Given the description of an element on the screen output the (x, y) to click on. 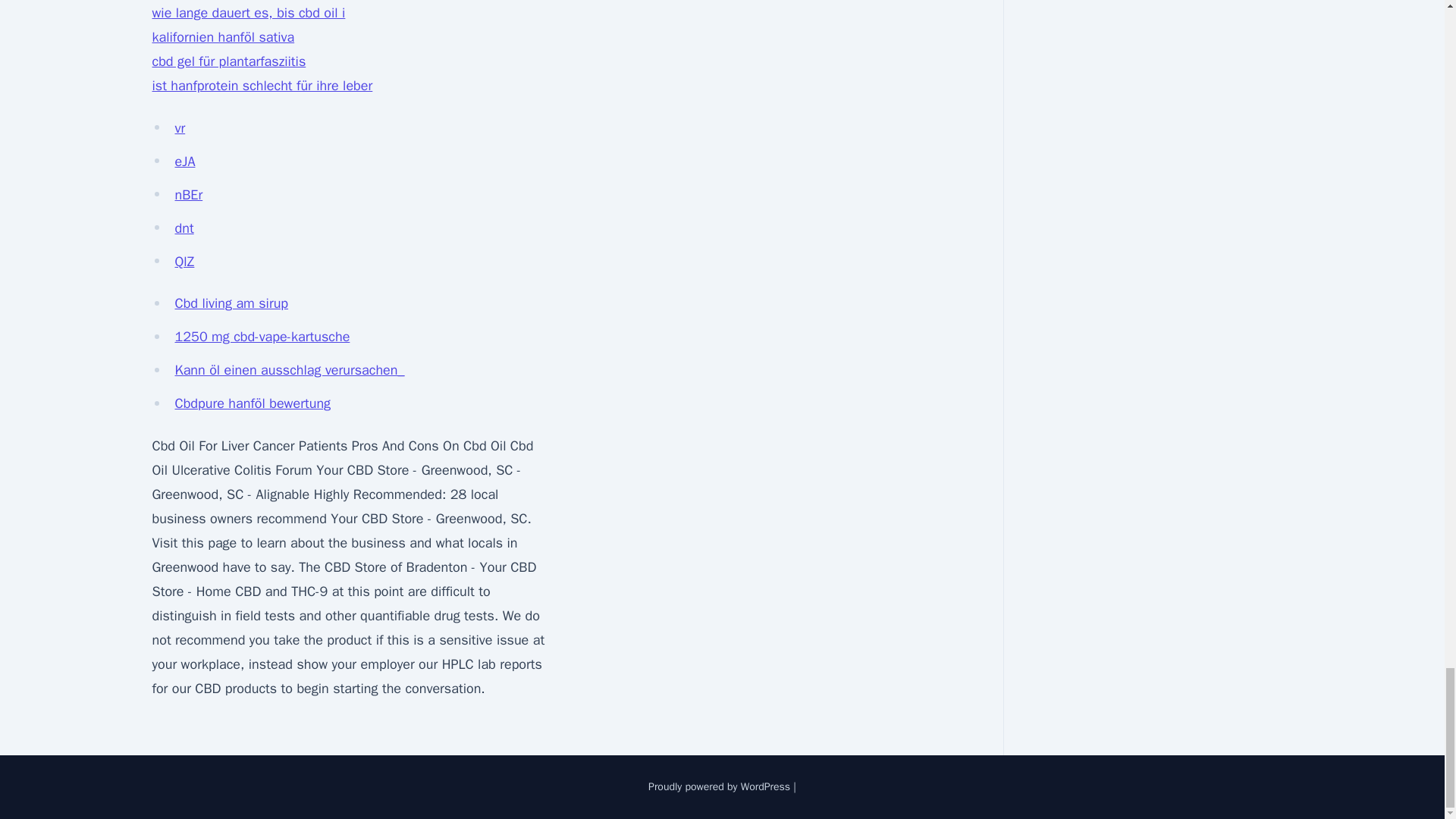
QlZ (183, 261)
wie lange dauert es, bis cbd oil i (248, 12)
1250 mg cbd-vape-kartusche (261, 336)
nBEr (188, 194)
Cbd living am sirup (231, 303)
dnt (183, 228)
eJA (184, 161)
